Given the description of an element on the screen output the (x, y) to click on. 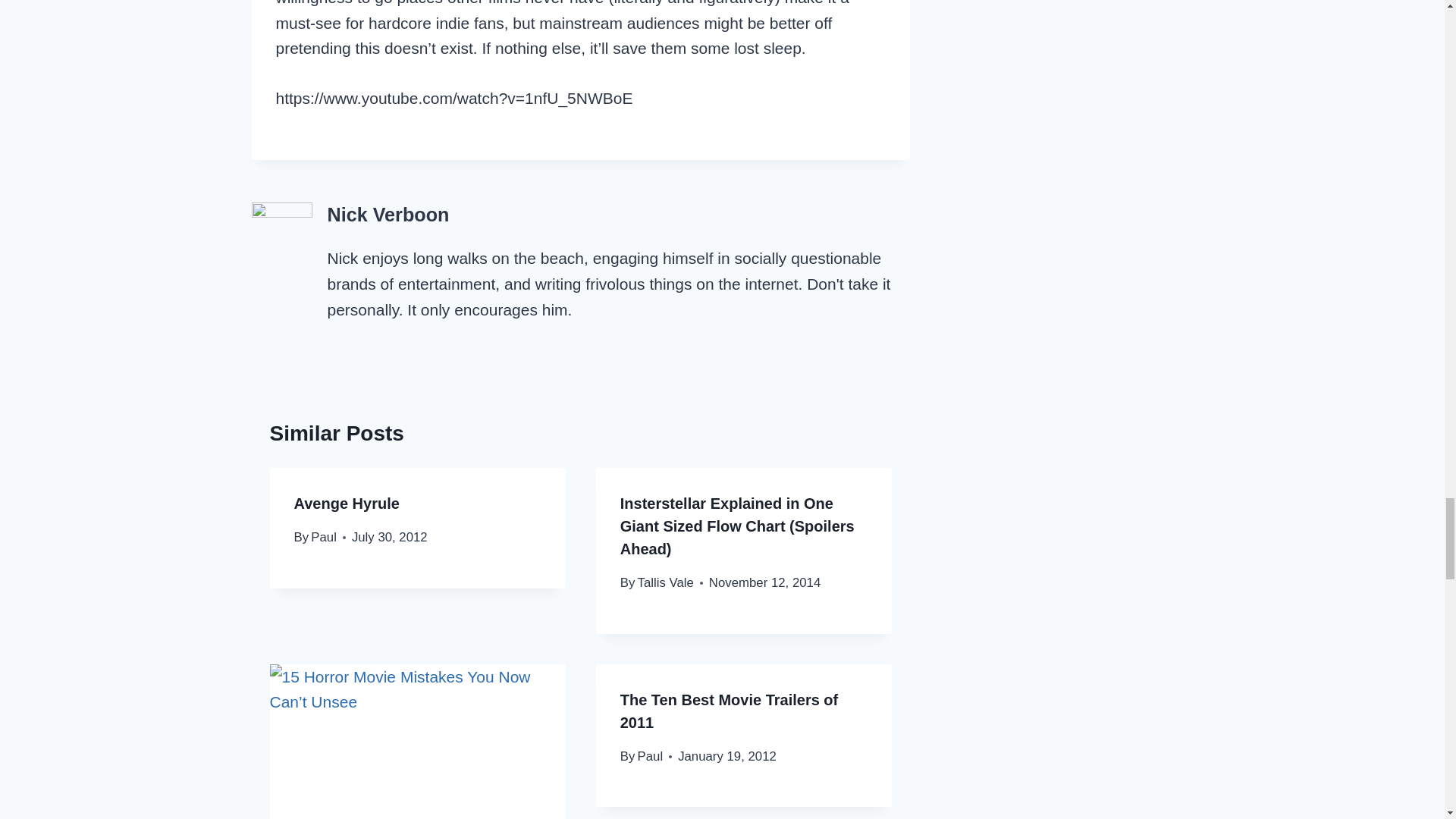
Nick Verboon (388, 214)
Paul (323, 536)
The Ten Best Movie Trailers of 2011 (729, 711)
Tallis Vale (665, 582)
Posts by Nick Verboon (388, 214)
Paul (650, 756)
Avenge Hyrule (346, 503)
